Given the description of an element on the screen output the (x, y) to click on. 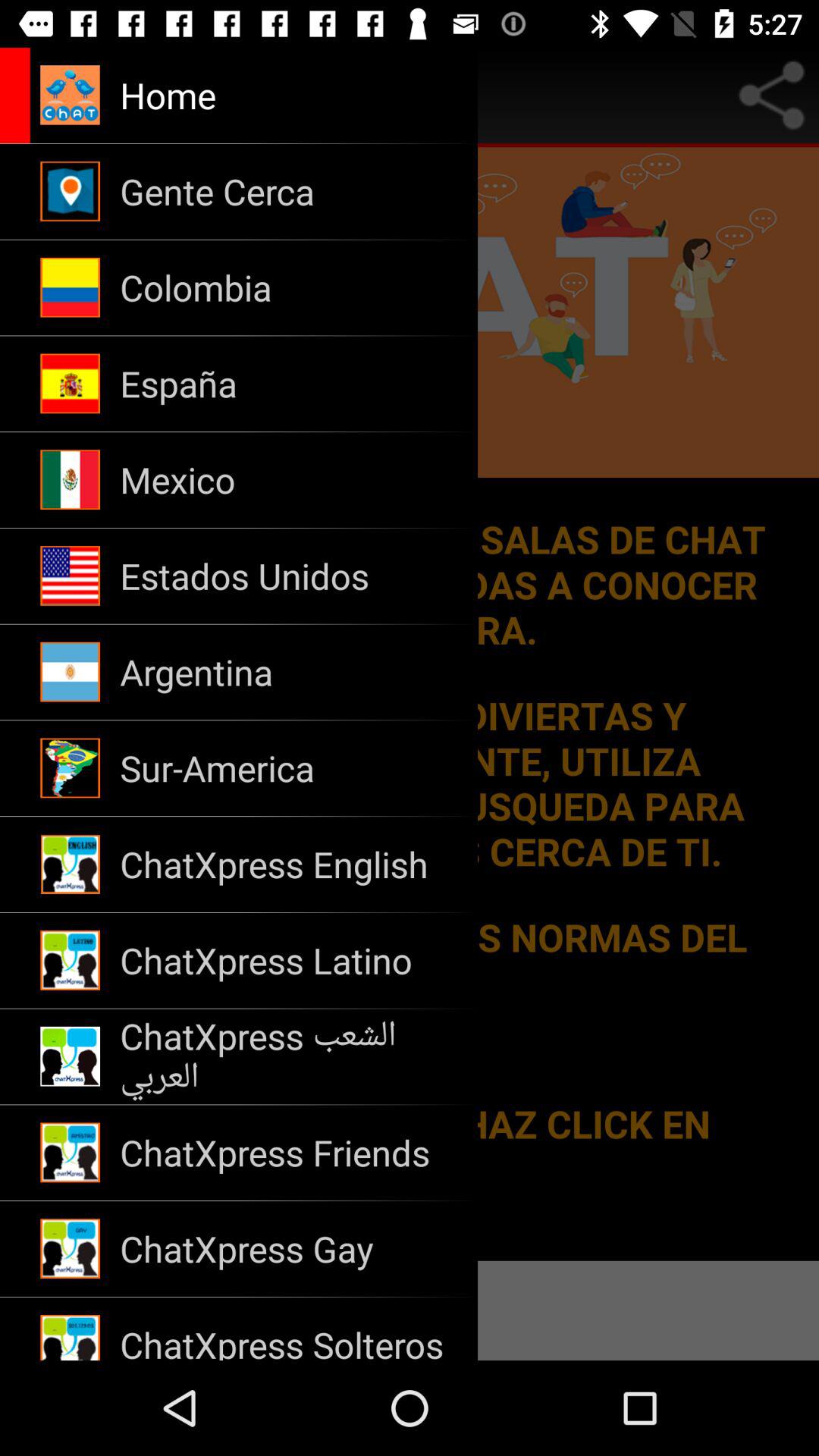
choose a chat (409, 703)
